Given the description of an element on the screen output the (x, y) to click on. 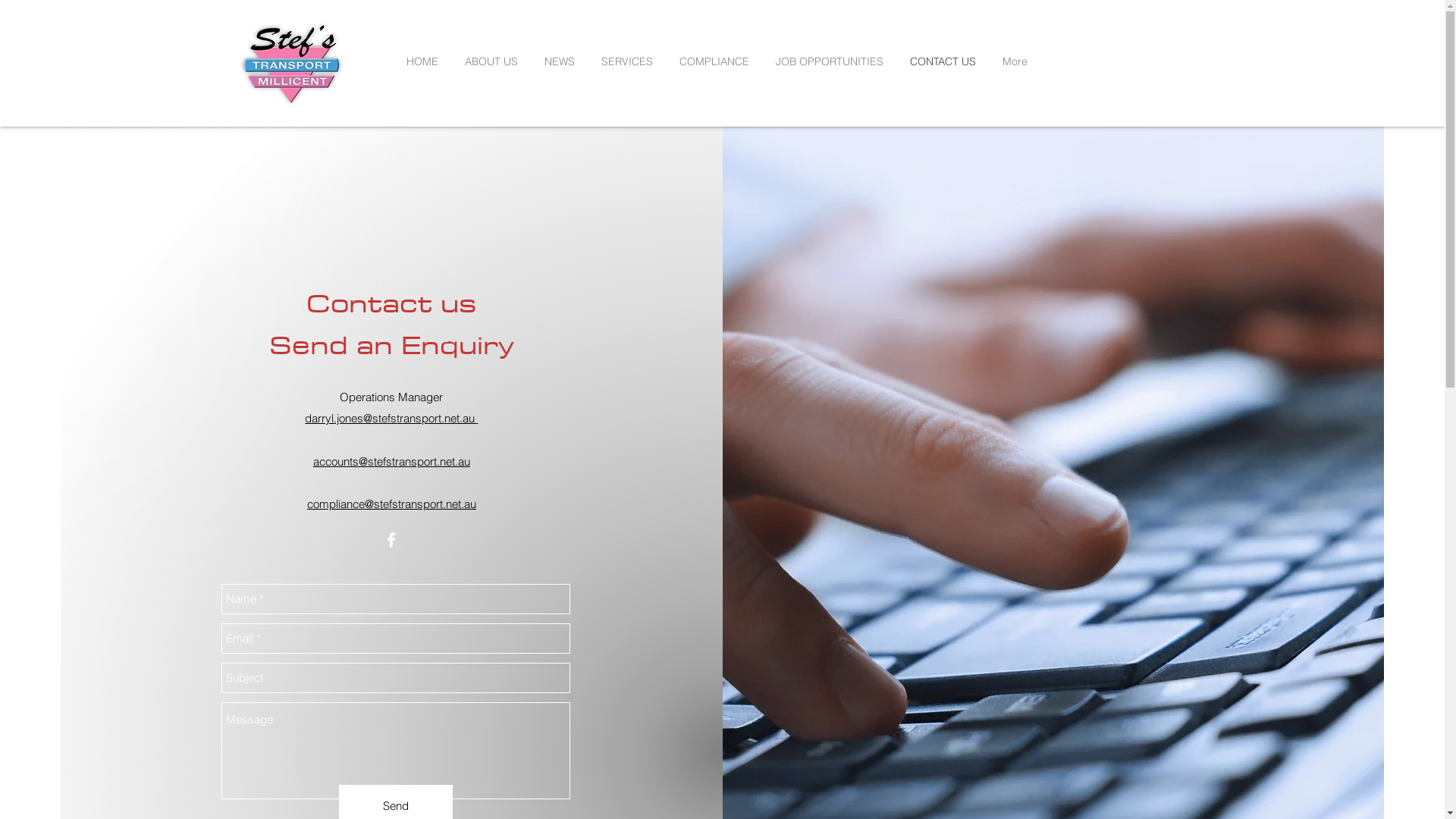
HOME Element type: text (427, 61)
JOB OPPORTUNITIES Element type: text (834, 61)
CONTACT US Element type: text (948, 61)
compliance@stefstransport.net.au Element type: text (391, 503)
accounts@stefstransport.net.au Element type: text (391, 460)
NEWS Element type: text (564, 61)
darryl.jones@stefstransport.net.au  Element type: text (390, 418)
